Given the description of an element on the screen output the (x, y) to click on. 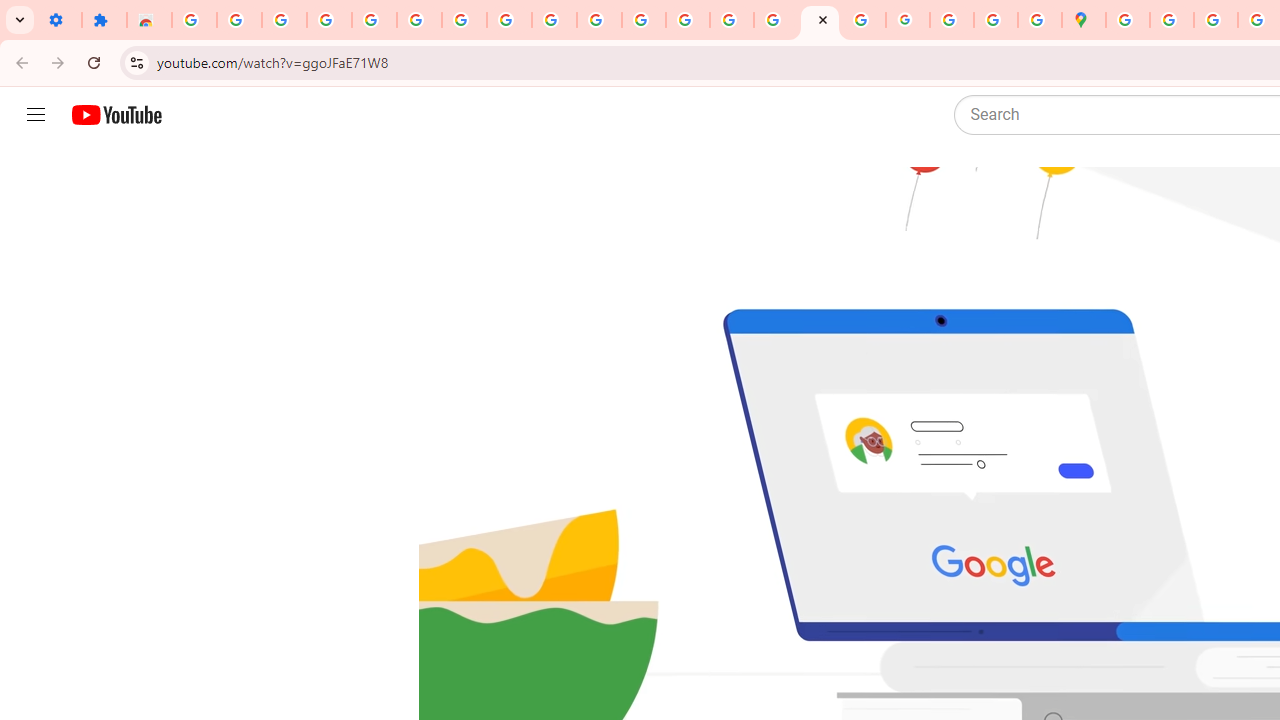
https://scholar.google.com/ (599, 20)
YouTube (509, 20)
Create your Google Account (1215, 20)
Google Maps (1083, 20)
